Given the description of an element on the screen output the (x, y) to click on. 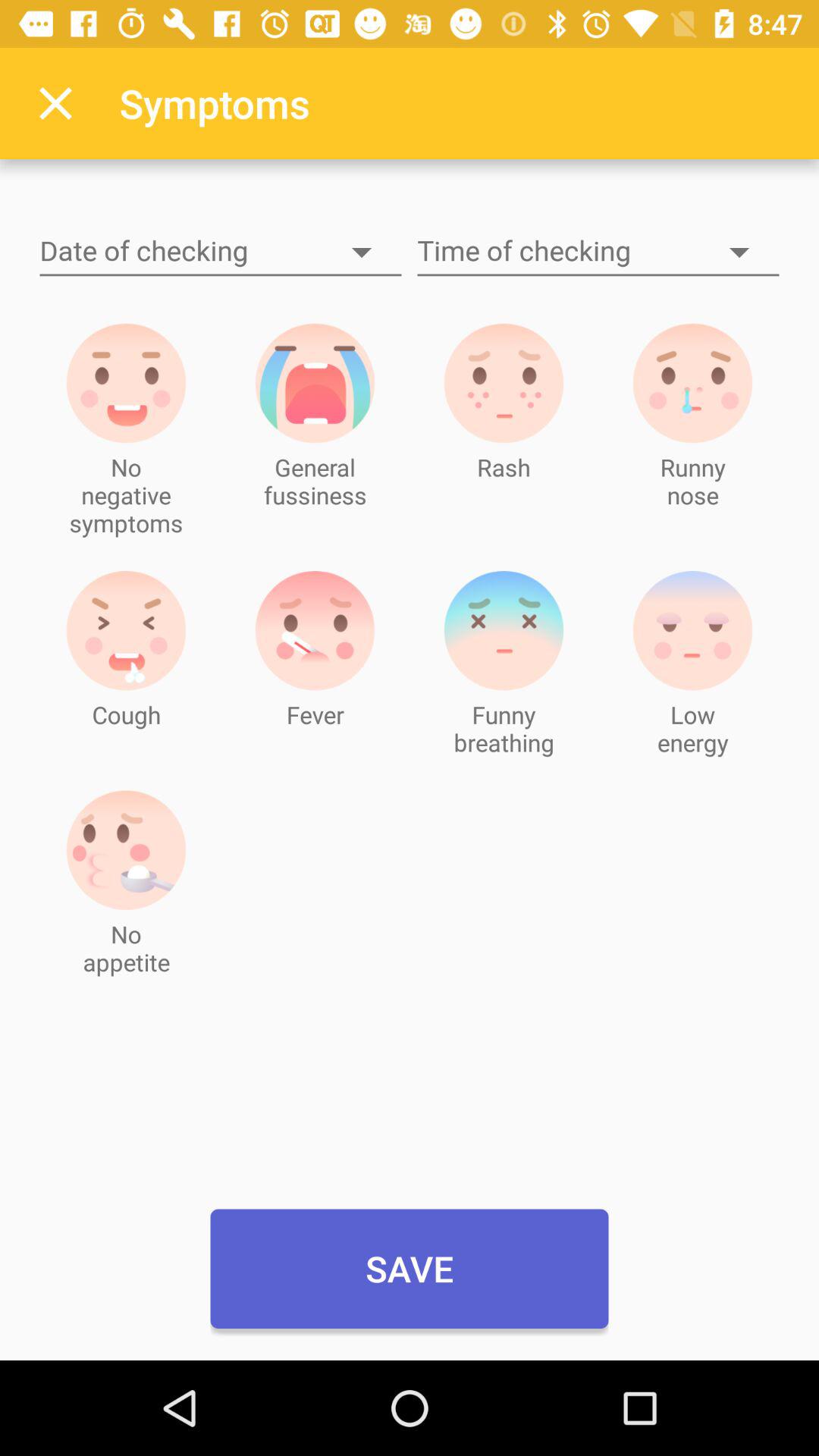
click on the first emoji (125, 382)
